Given the description of an element on the screen output the (x, y) to click on. 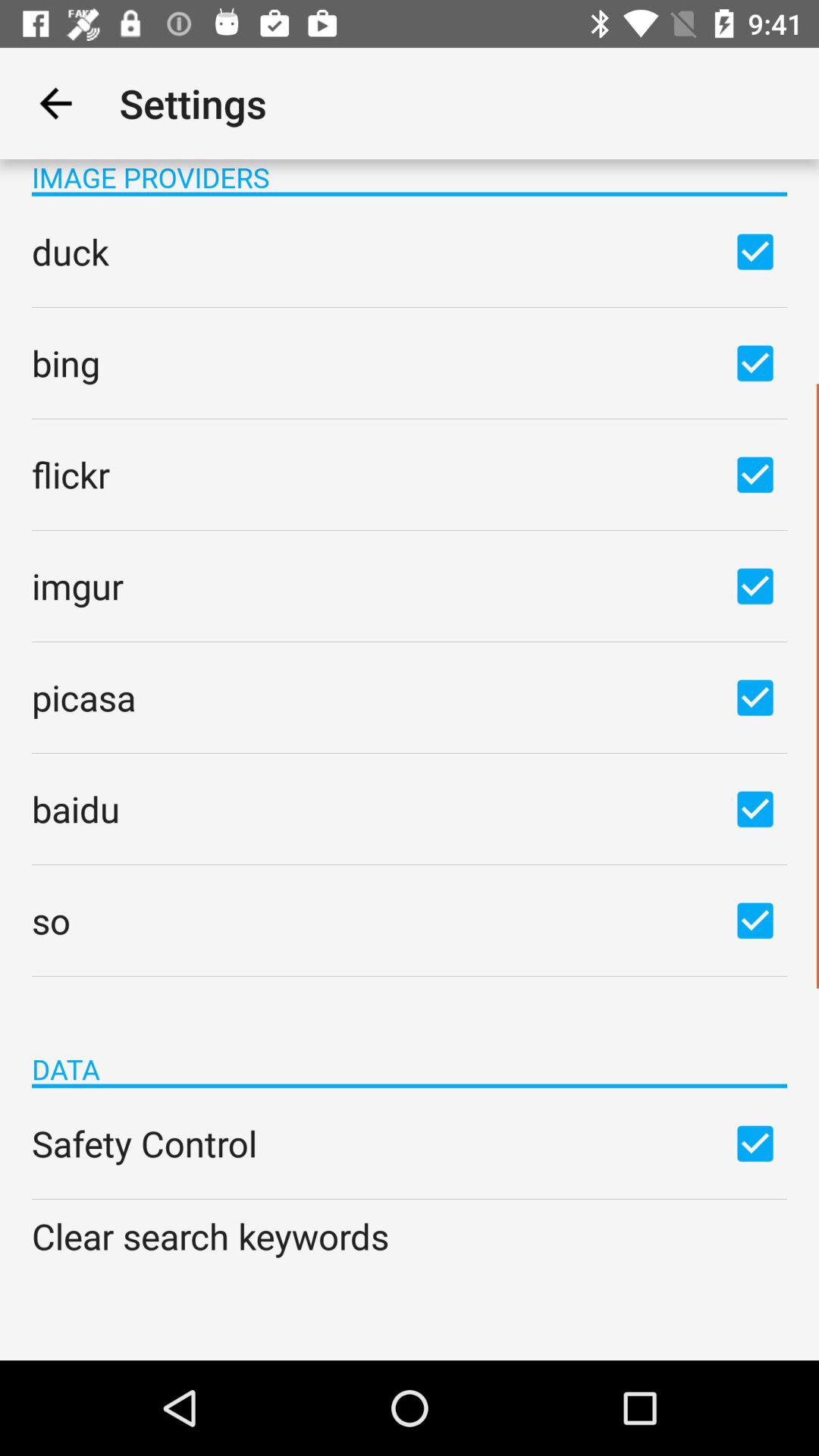
enable imgur (755, 585)
